Given the description of an element on the screen output the (x, y) to click on. 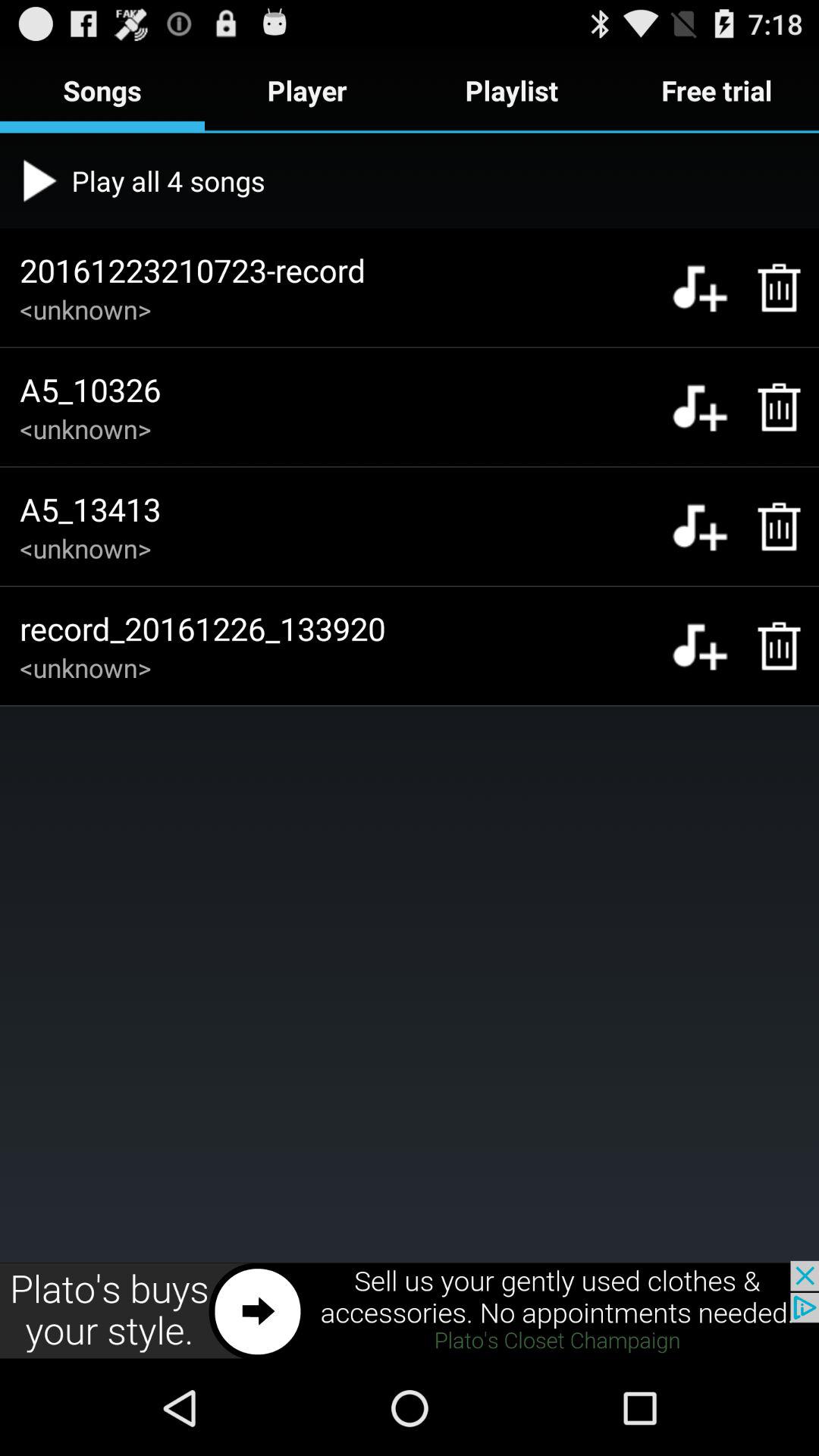
add music (699, 526)
